Given the description of an element on the screen output the (x, y) to click on. 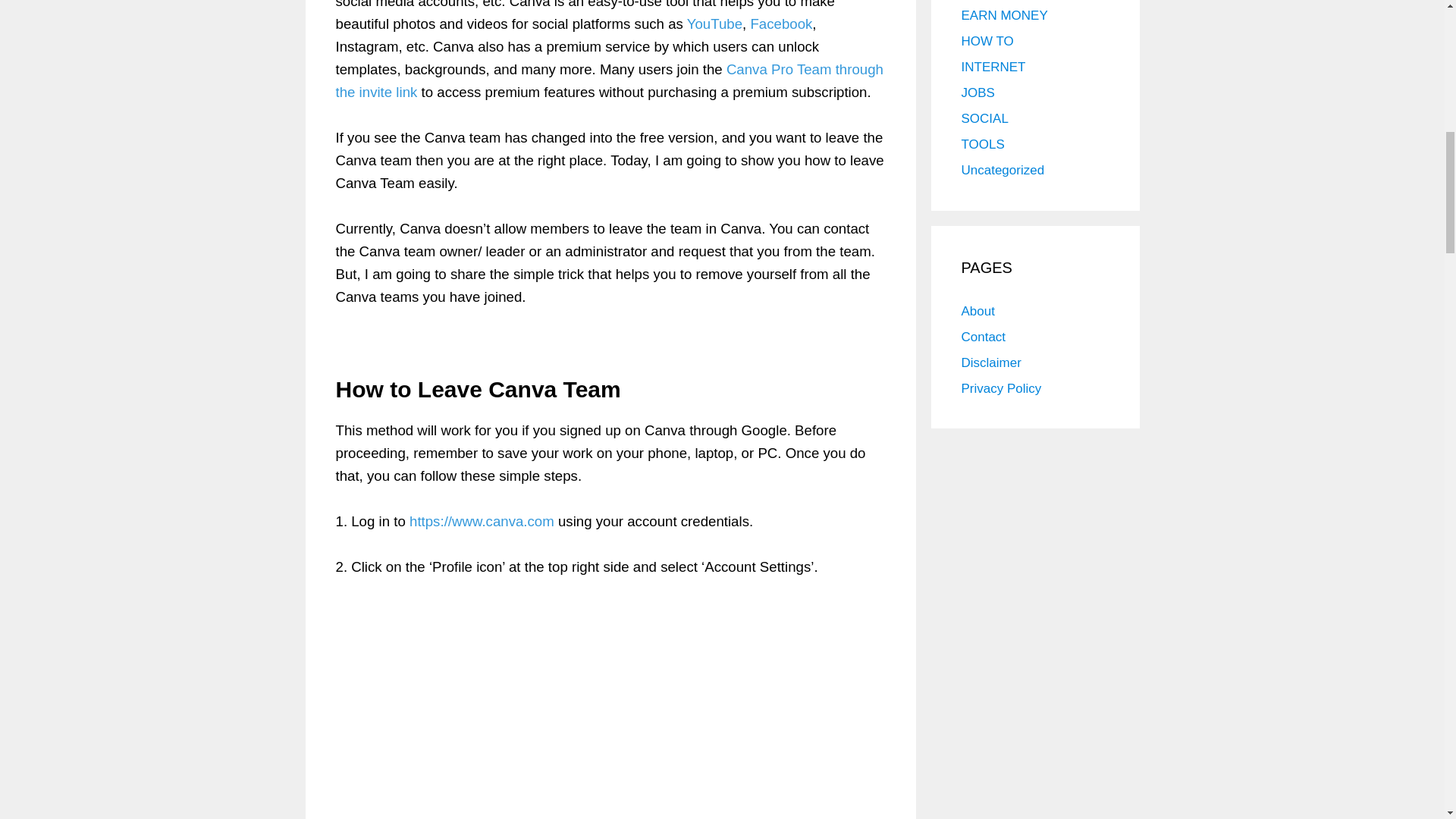
YouTube (714, 23)
Canva Pro Team through the invite link (608, 79)
Facebook (780, 23)
account-settings (609, 709)
